Given the description of an element on the screen output the (x, y) to click on. 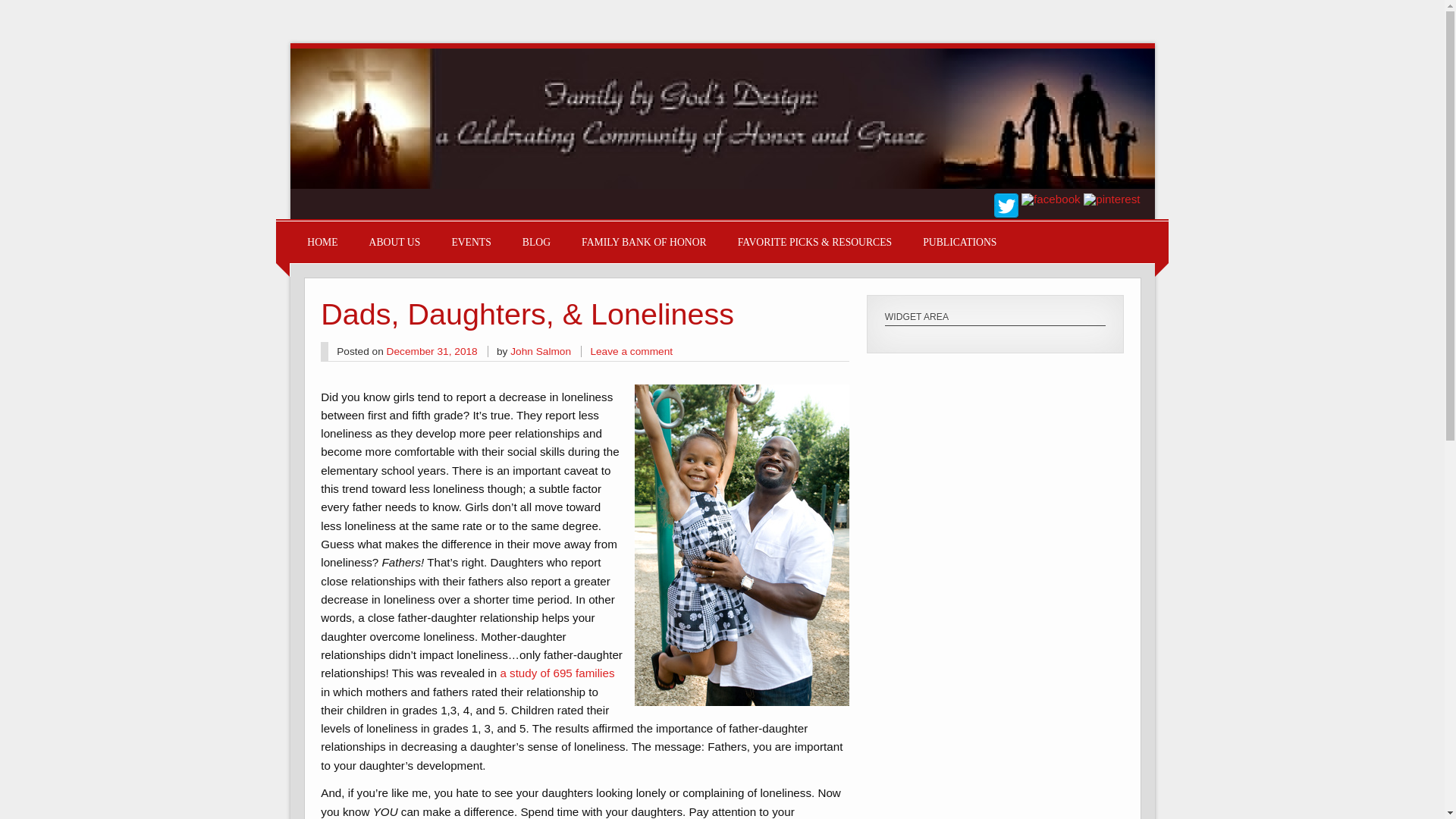
PUBLICATIONS (959, 241)
EVENTS (470, 241)
December 31, 2018 (432, 351)
8:00 pm (432, 351)
Leave a comment (630, 351)
a study of 695 families (556, 672)
ABOUT US (394, 241)
Family by God's Design (721, 184)
View all posts by John Salmon (540, 351)
FAMILY BANK OF HONOR (643, 241)
